Given the description of an element on the screen output the (x, y) to click on. 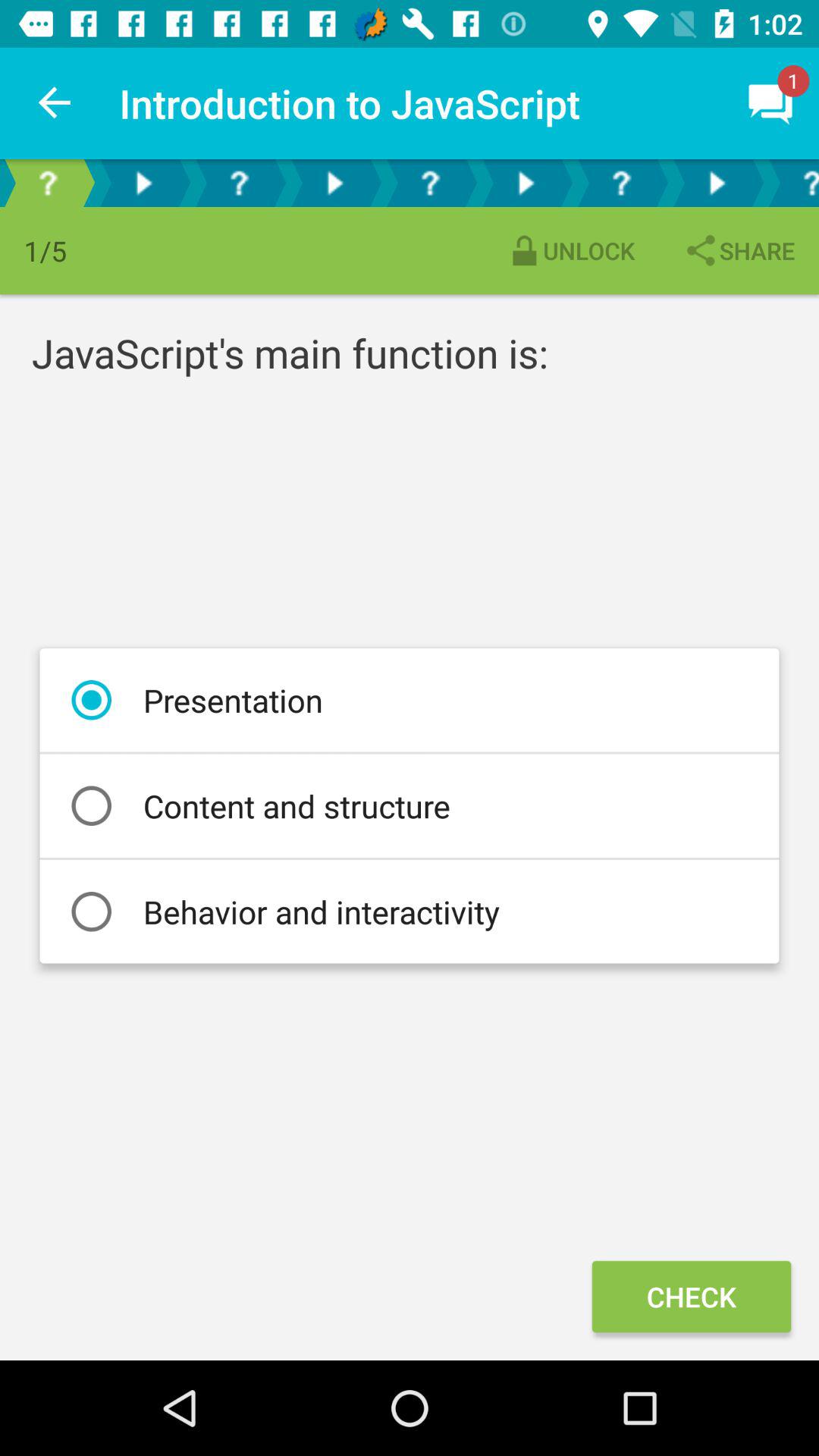
press the icon to the left of the share icon (570, 250)
